Given the description of an element on the screen output the (x, y) to click on. 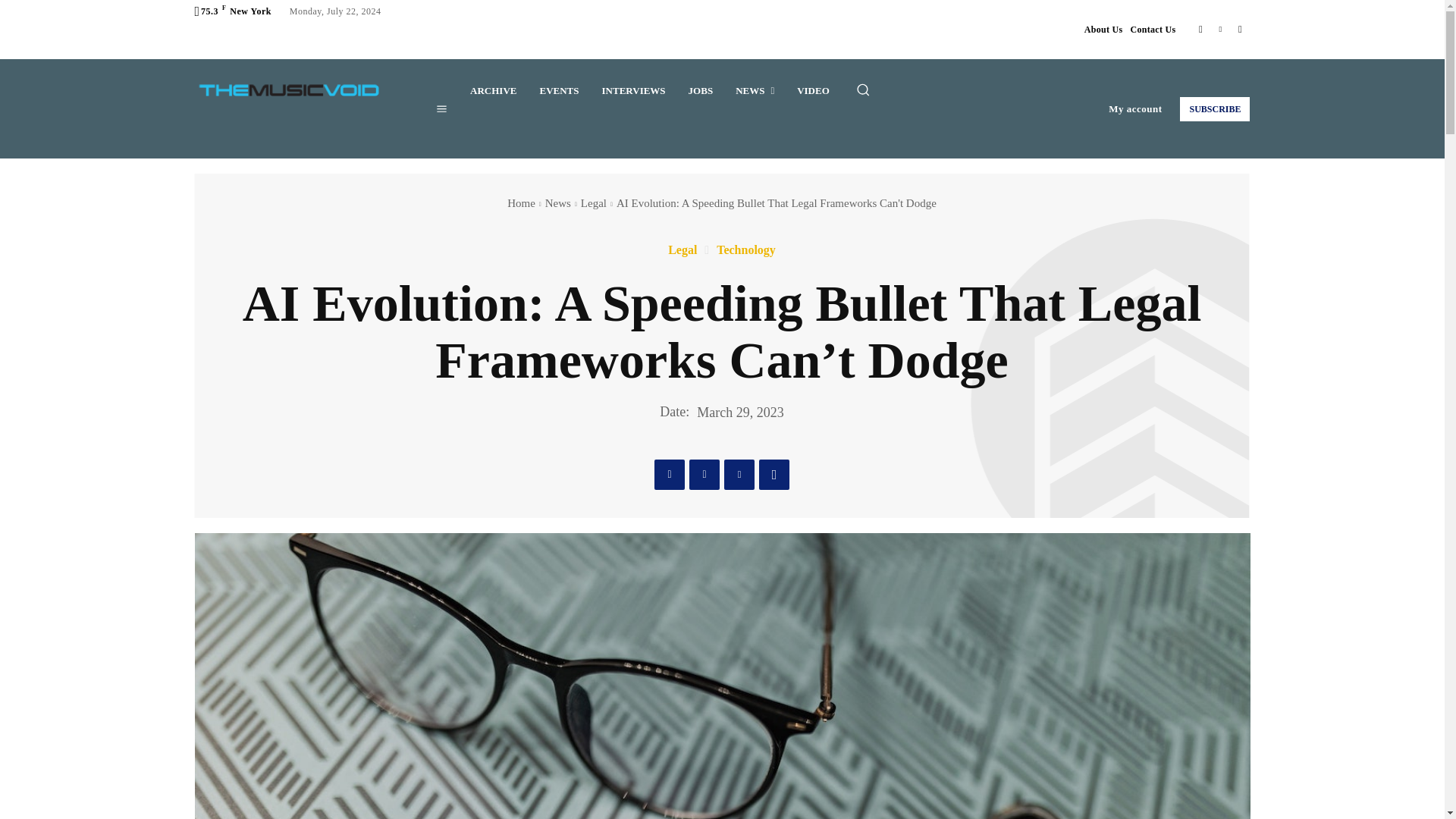
Facebook (1200, 29)
Linkedin (1219, 29)
About Us (1103, 29)
Contact Us (1151, 29)
Twitter (1239, 29)
